Given the description of an element on the screen output the (x, y) to click on. 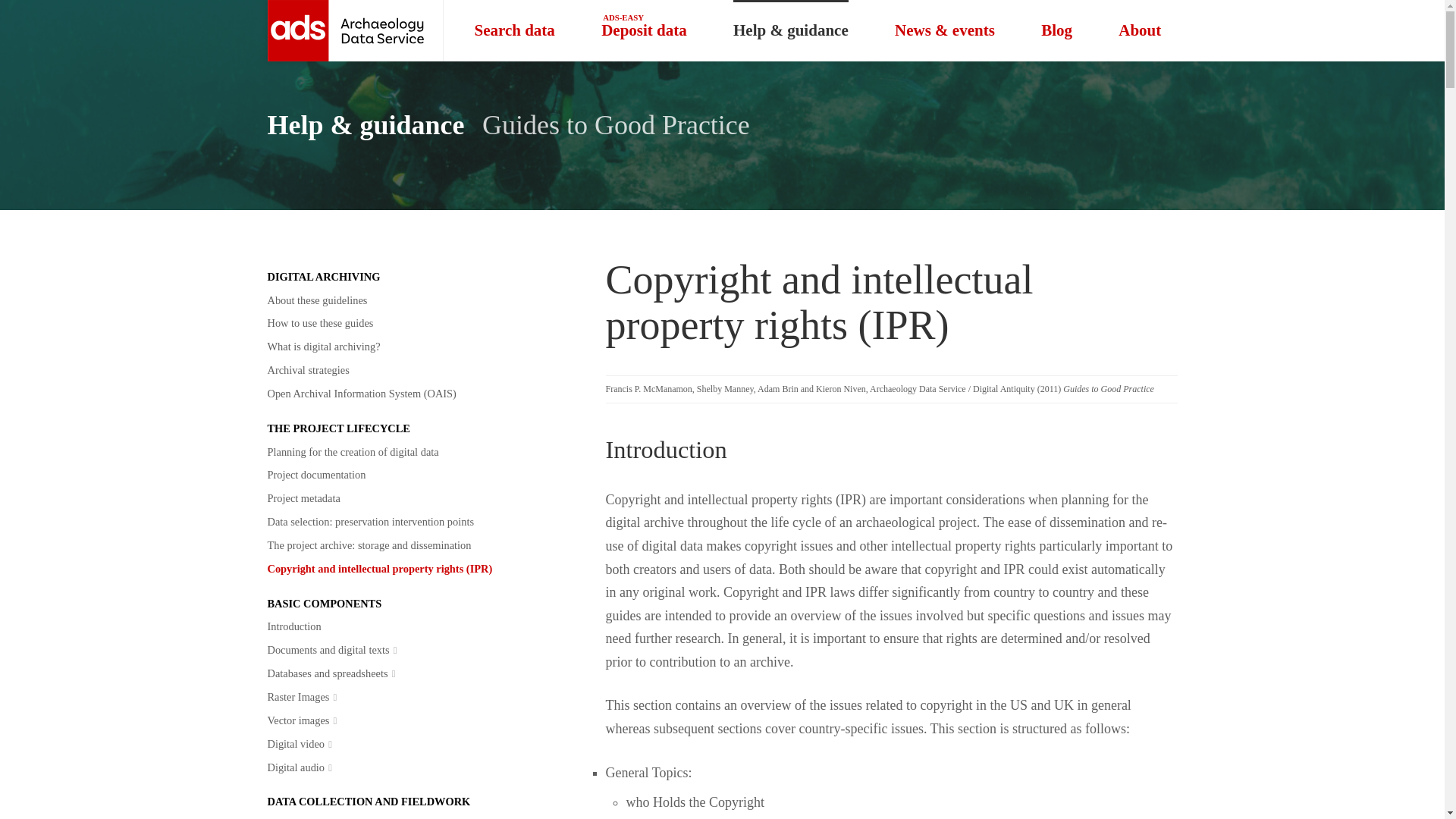
The project archive: storage and dissemination (368, 545)
What is digital archiving? (323, 346)
Search data (514, 30)
The project archive: storage and dissemination (368, 545)
Archival strategies (307, 370)
About these guidelines (316, 300)
What is digital archiving? (323, 346)
Introduction (293, 626)
How to use these guides (644, 30)
Planning for the creation of digital data (319, 323)
Archival strategies (352, 451)
Project metadata (307, 370)
Planning for the creation of digital data (302, 498)
About these guidelines (352, 451)
